Given the description of an element on the screen output the (x, y) to click on. 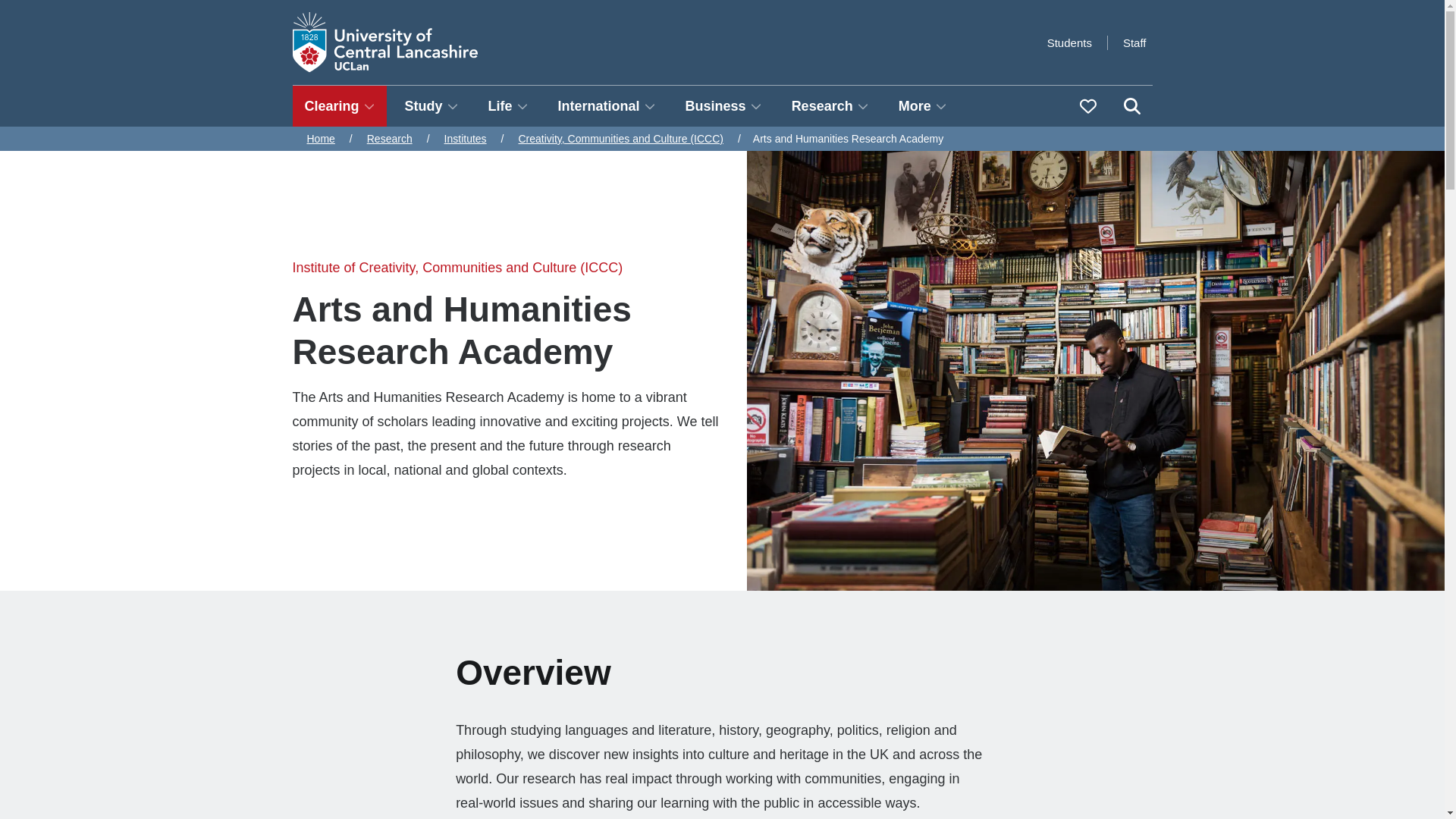
Students (1069, 42)
Study (431, 105)
Staff (1134, 42)
Life (508, 105)
Clearing (339, 105)
